Given the description of an element on the screen output the (x, y) to click on. 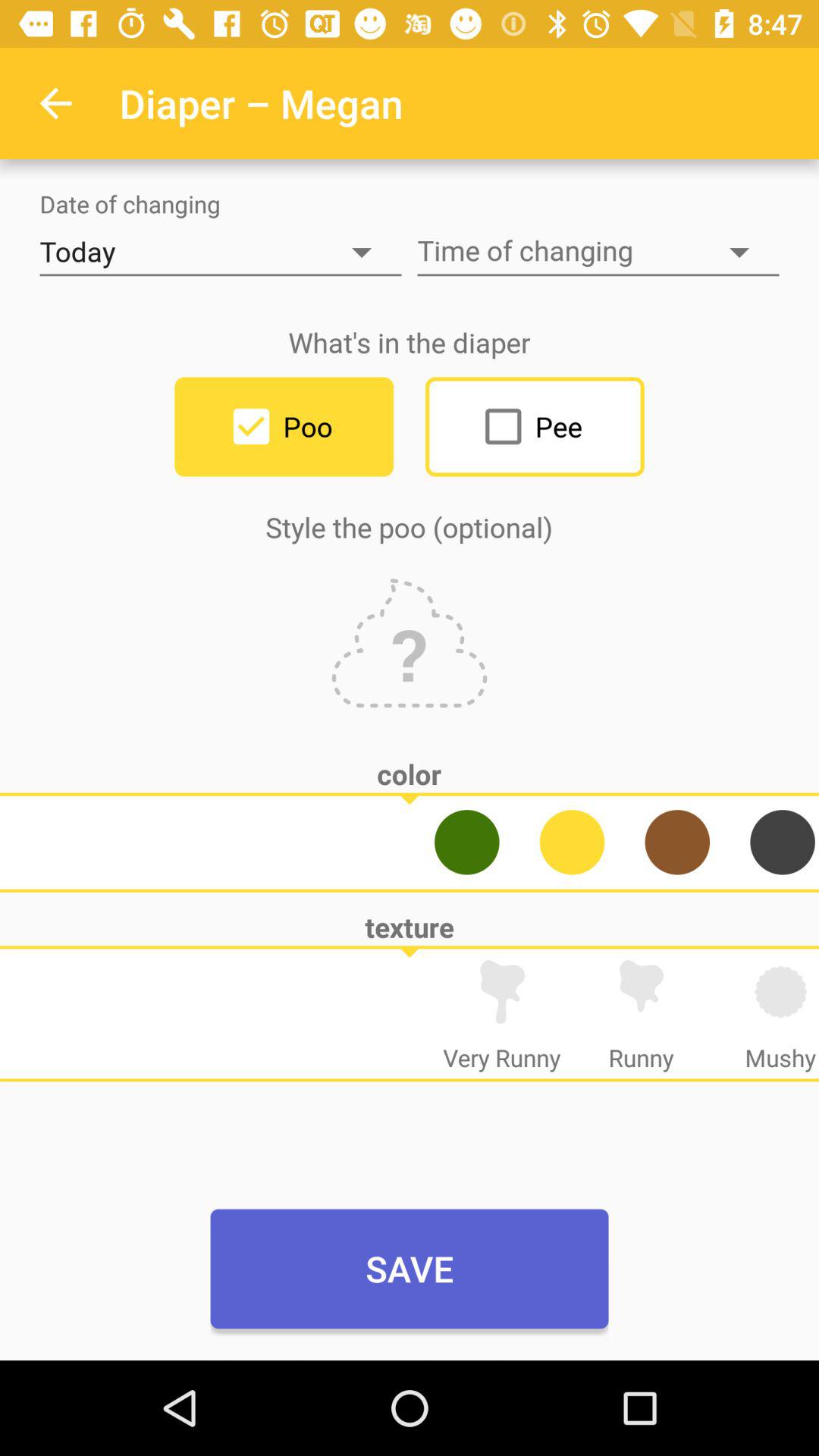
select color (677, 842)
